Given the description of an element on the screen output the (x, y) to click on. 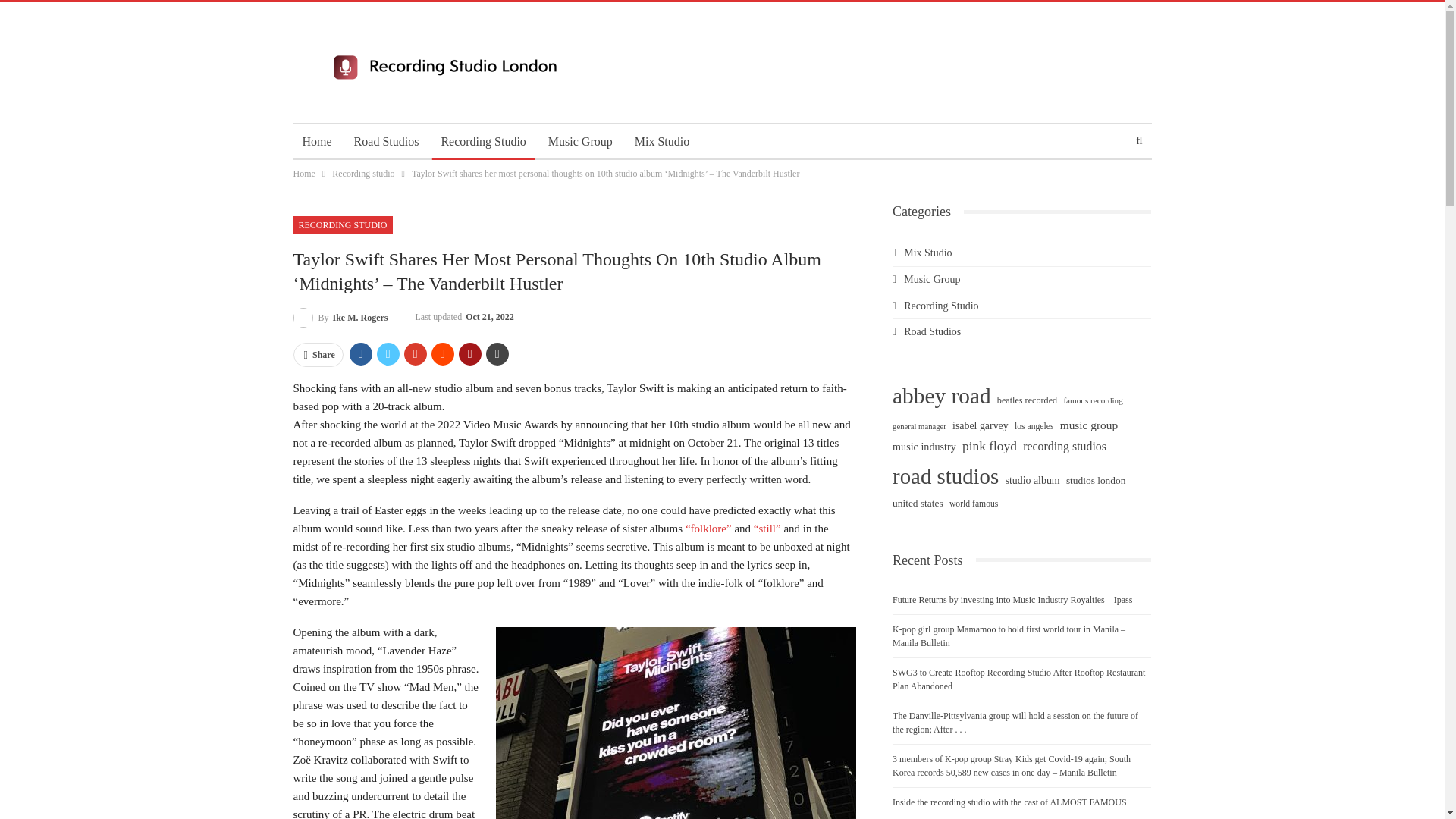
By Ike M. Rogers (339, 317)
Home (316, 141)
Recording Studio (482, 141)
Road Studios (386, 141)
Recording studio (362, 173)
Mix Studio (662, 141)
Home (303, 173)
RECORDING STUDIO (341, 225)
Music Group (579, 141)
Browse Author Articles (339, 317)
